Given the description of an element on the screen output the (x, y) to click on. 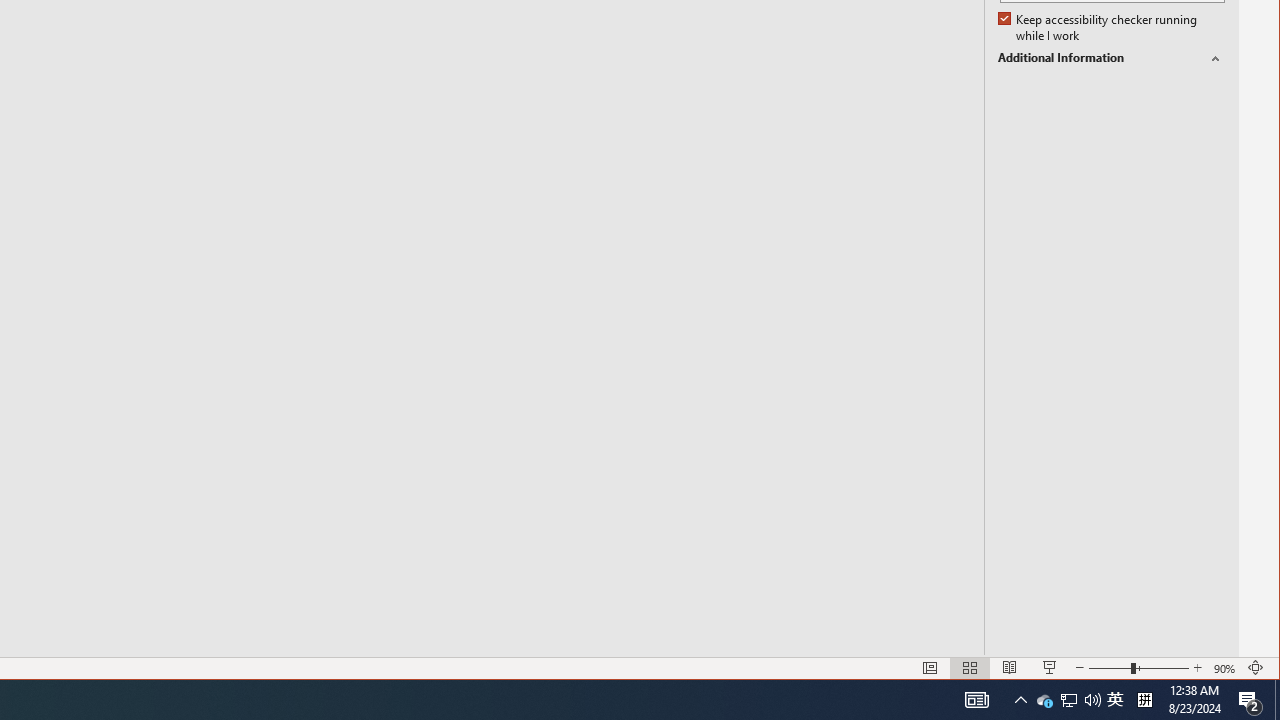
User Promoted Notification Area (1068, 699)
Action Center, 2 new notifications (1044, 699)
Additional Information (1250, 699)
Q2790: 100% (1111, 57)
